Given the description of an element on the screen output the (x, y) to click on. 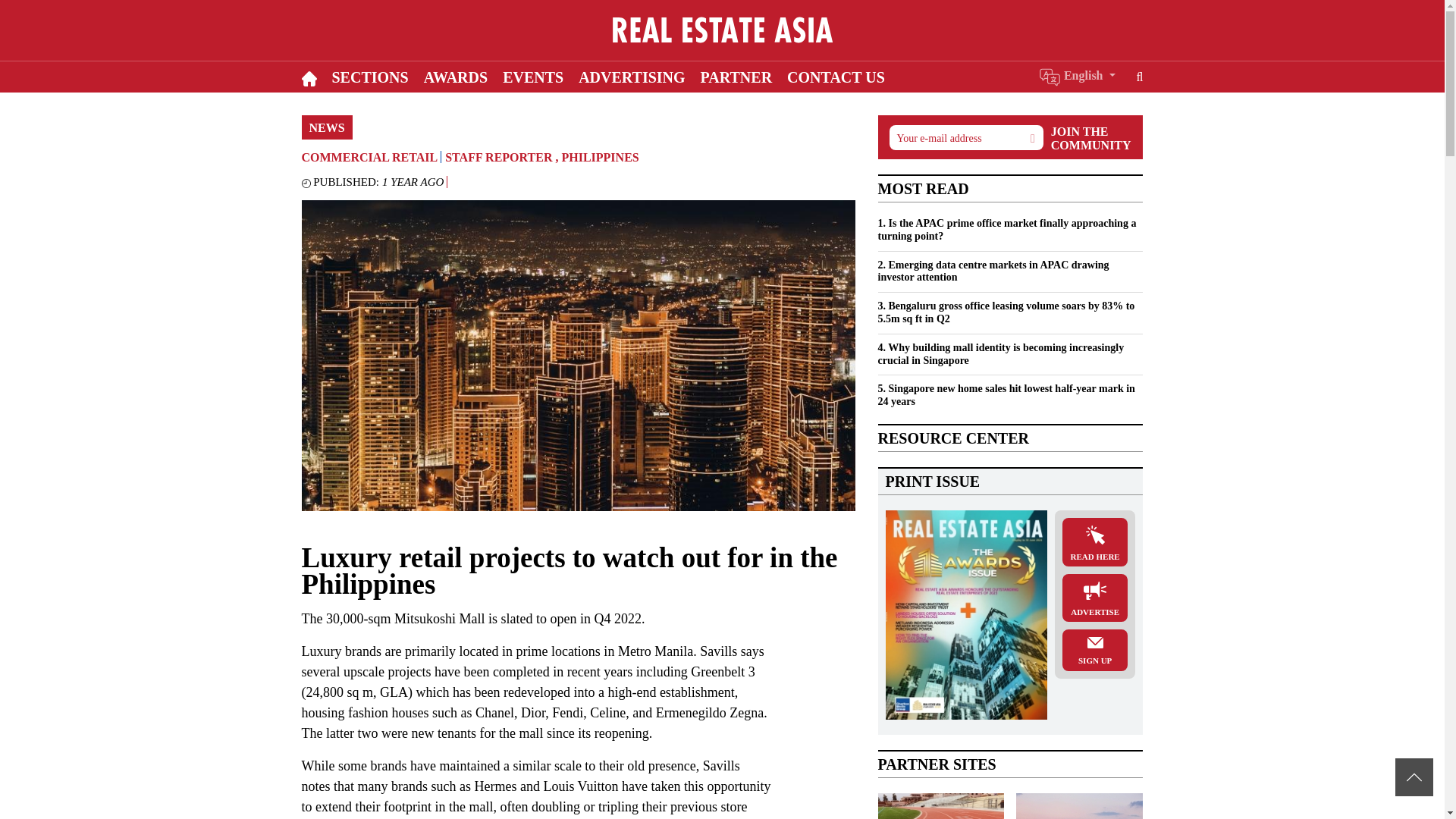
Please enter a valid email (965, 137)
